Given the description of an element on the screen output the (x, y) to click on. 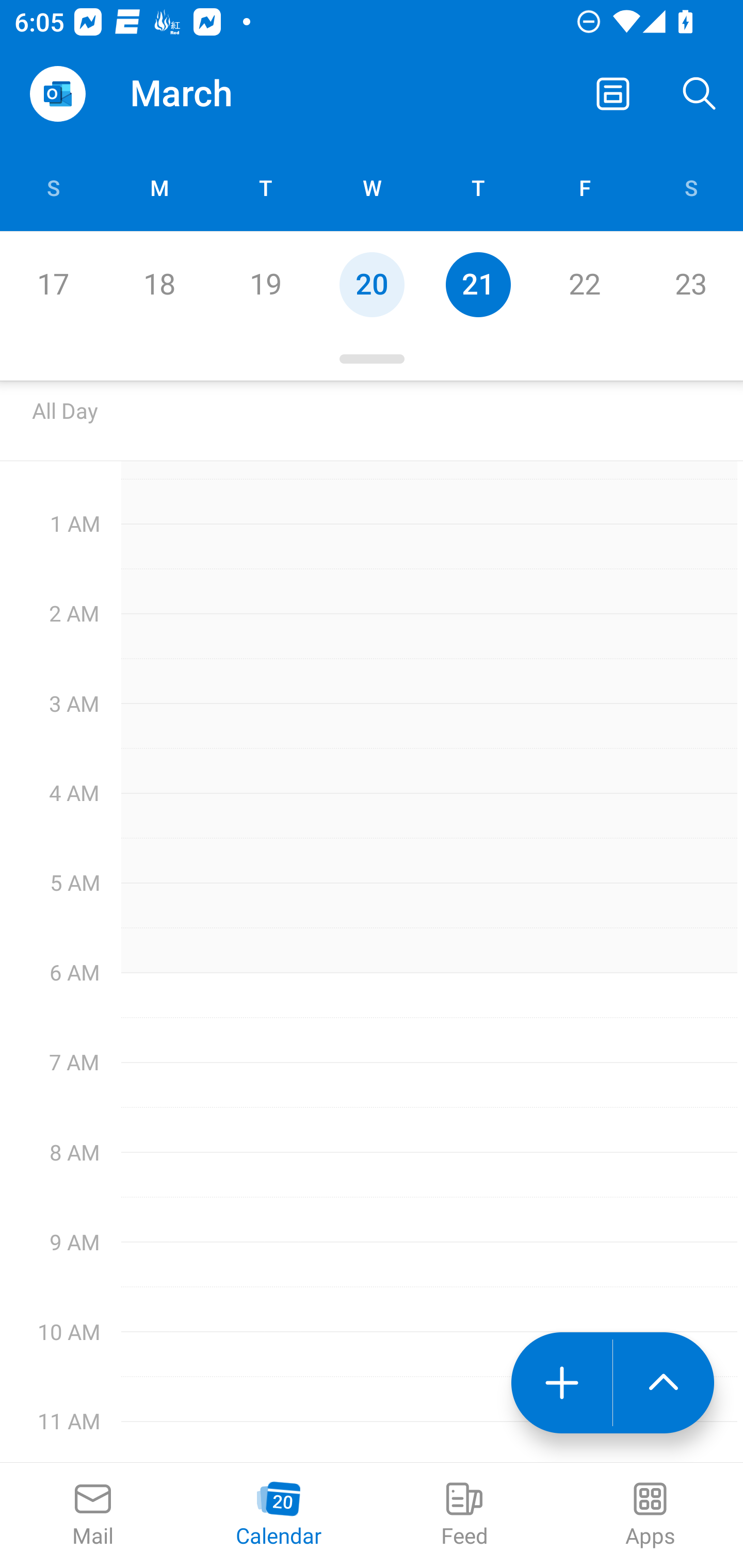
March March 2024, day picker (209, 93)
Switch away from Day view (612, 93)
Search, ,  (699, 93)
Open Navigation Drawer (57, 94)
17 Sunday, March 17 (53, 284)
18 Monday, March 18 (159, 284)
19 Tuesday, March 19 (265, 284)
20 Wednesday, March 20, today (371, 284)
21 Thursday, March 21, Selected (477, 284)
22 Friday, March 22 (584, 284)
23 Saturday, March 23 (690, 284)
Day picker (371, 359)
New event (561, 1382)
launch the extended action menu (663, 1382)
Mail (92, 1515)
Feed (464, 1515)
Apps (650, 1515)
